Given the description of an element on the screen output the (x, y) to click on. 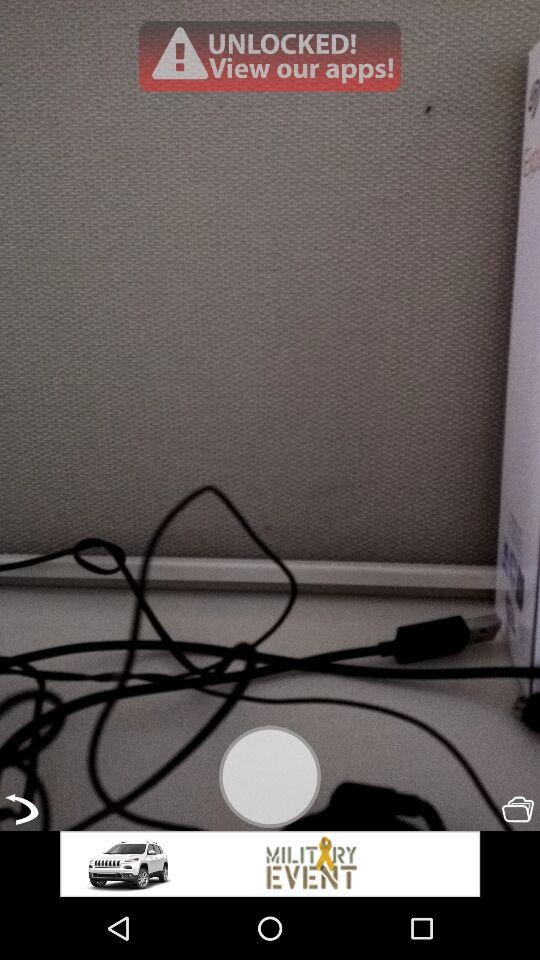
view advertisement (270, 864)
